Given the description of an element on the screen output the (x, y) to click on. 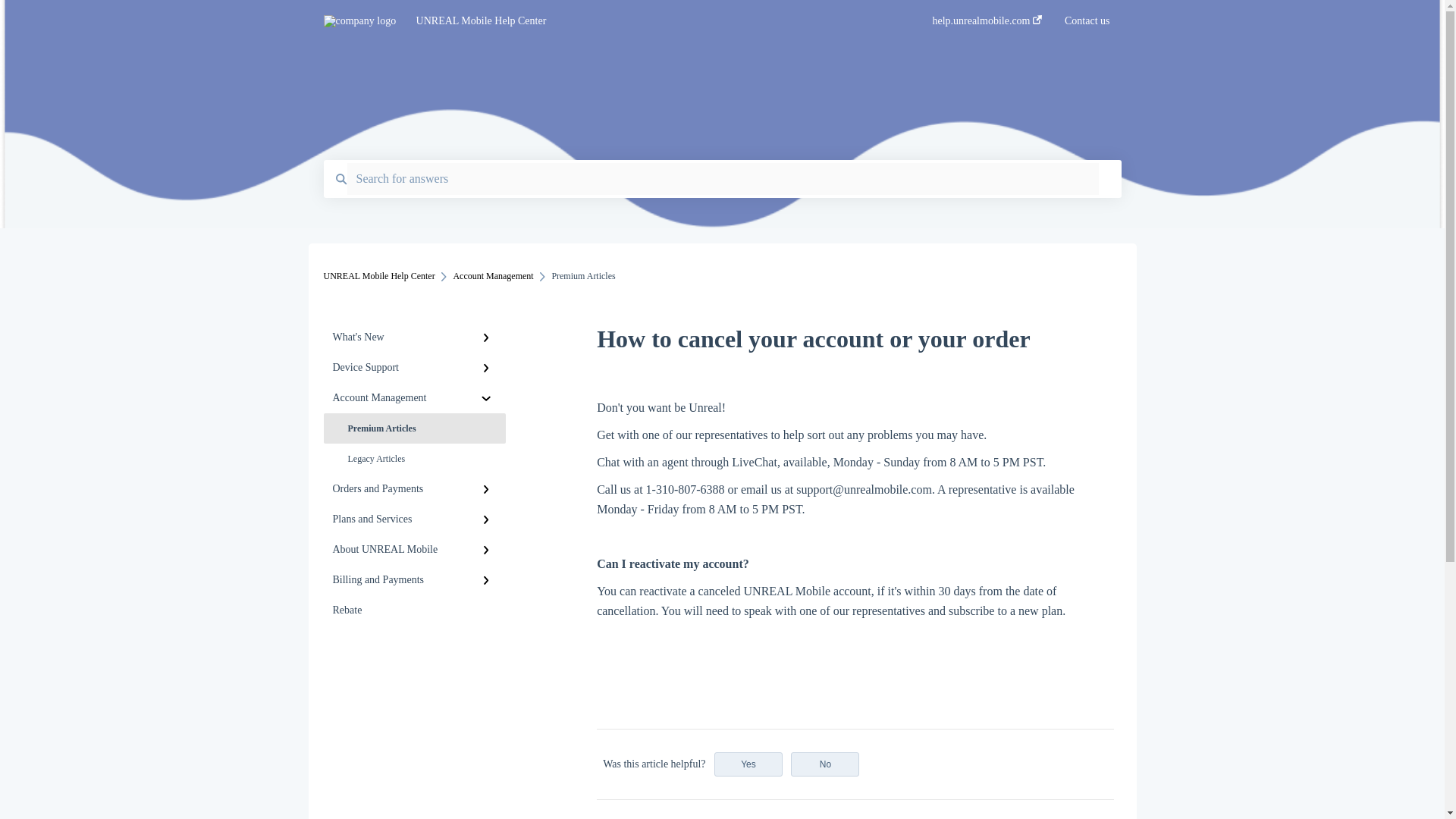
Premium Articles (414, 428)
Device Support (414, 367)
Orders and Payments (414, 489)
UNREAL Mobile Help Center (651, 21)
Legacy Articles (414, 458)
UNREAL Mobile Help Center (378, 276)
Account Management (414, 398)
help.unrealmobile.com (986, 25)
Account Management (492, 276)
What's New (414, 337)
Contact us (1086, 25)
